Given the description of an element on the screen output the (x, y) to click on. 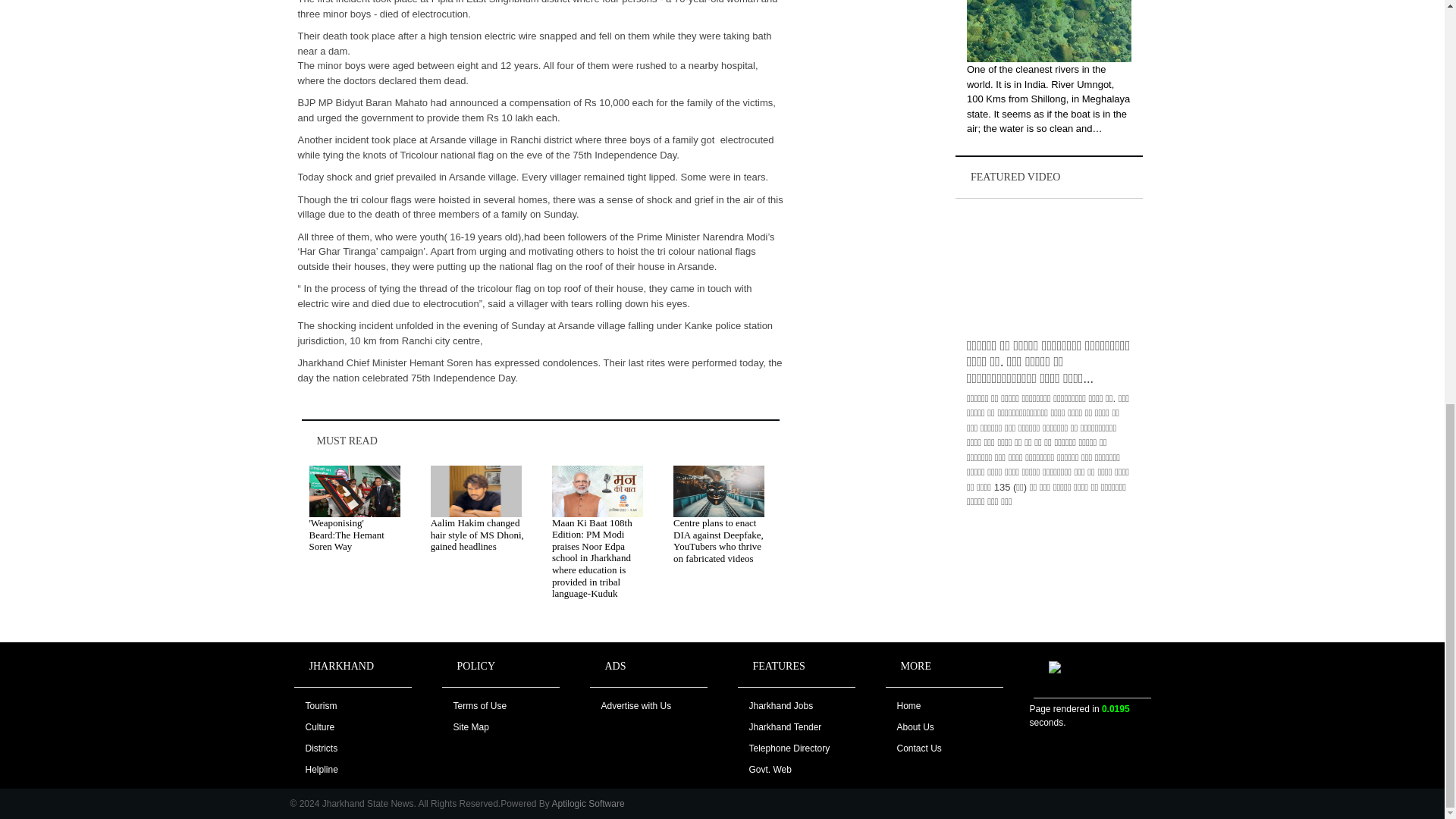
Aalim Hakim changed hair style of MS Dhoni, gained headlines (477, 534)
'Weaponising' Beard:The Hemant Soren Way (346, 534)
